Given the description of an element on the screen output the (x, y) to click on. 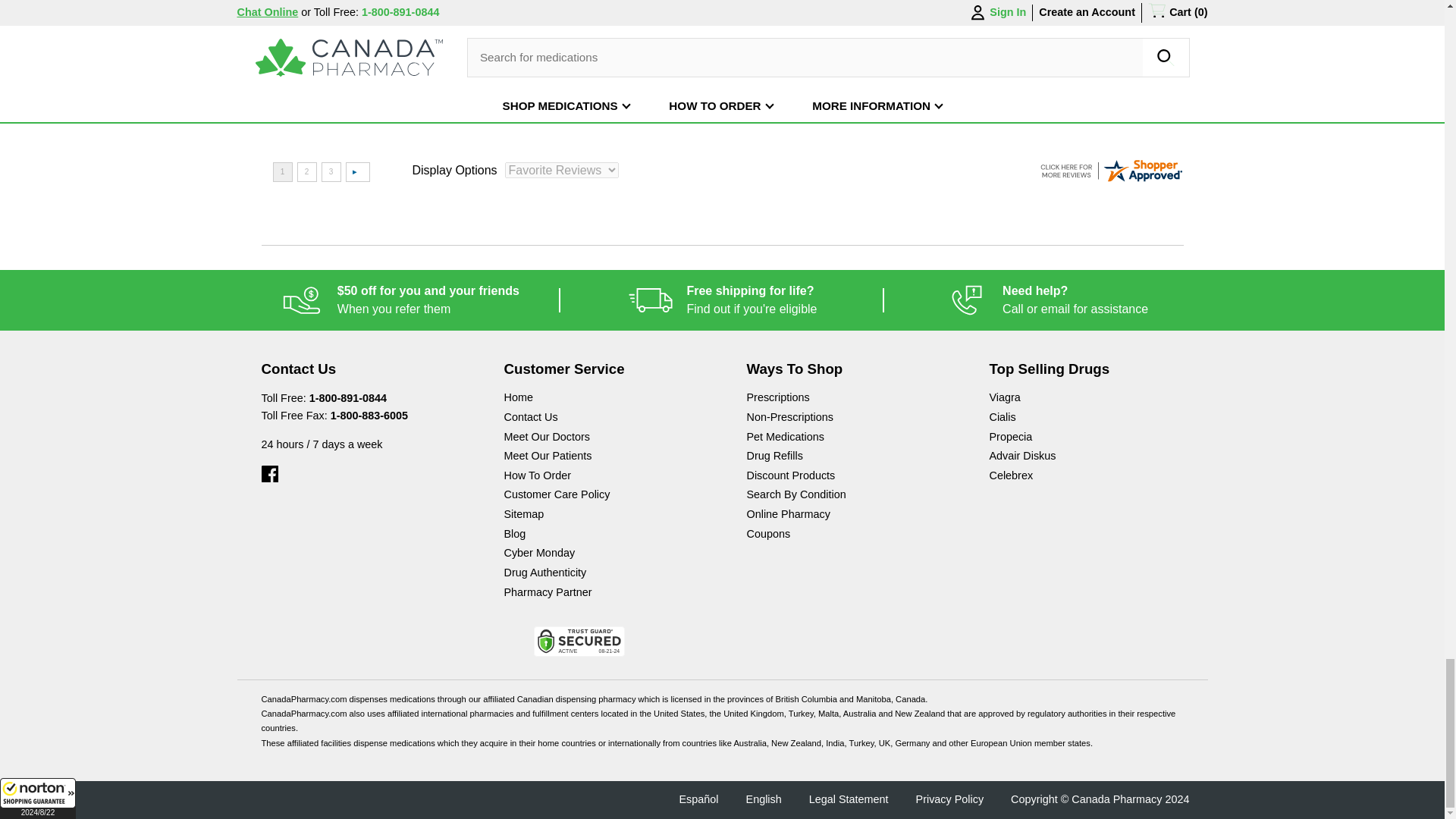
3 (330, 171)
1 (721, 300)
2 (282, 171)
Contact Us (1045, 300)
Sort Reviews (307, 171)
Home (600, 419)
Meet Our Doctors (561, 170)
1-800-891-0844 (600, 399)
